Given the description of an element on the screen output the (x, y) to click on. 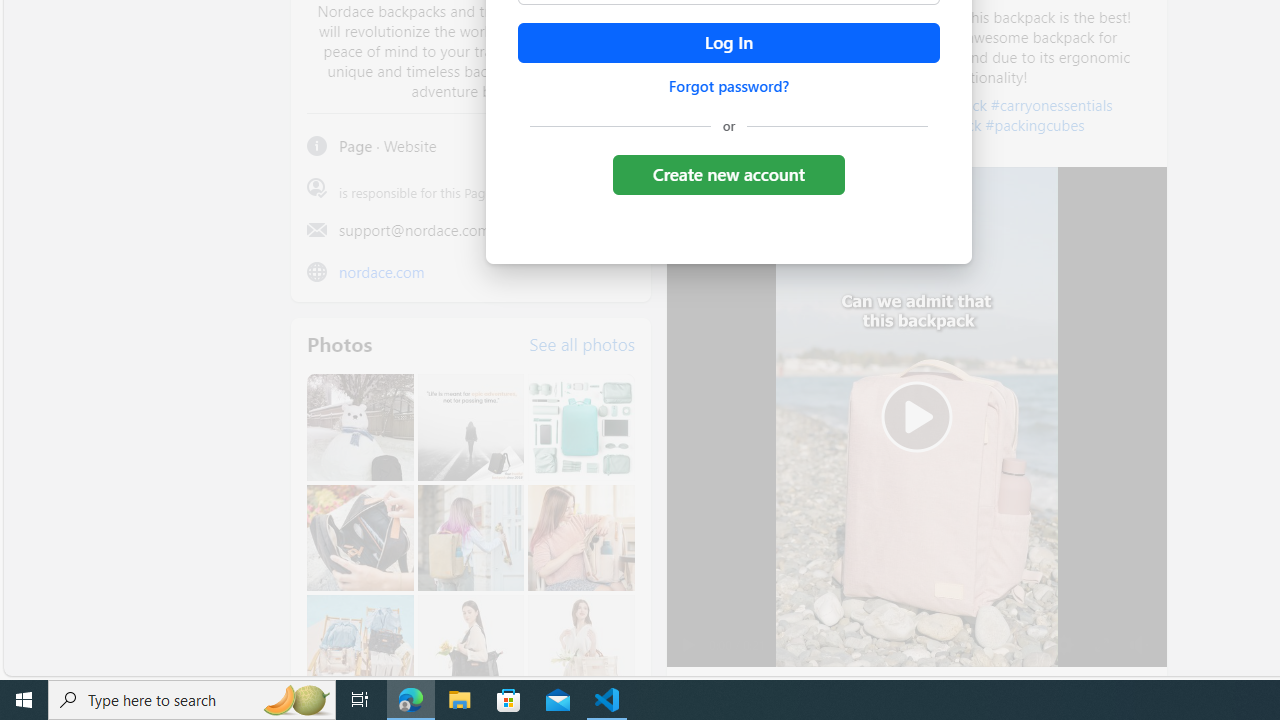
Accessible login button (728, 43)
Create new account (728, 174)
Forgot password? (728, 85)
